Given the description of an element on the screen output the (x, y) to click on. 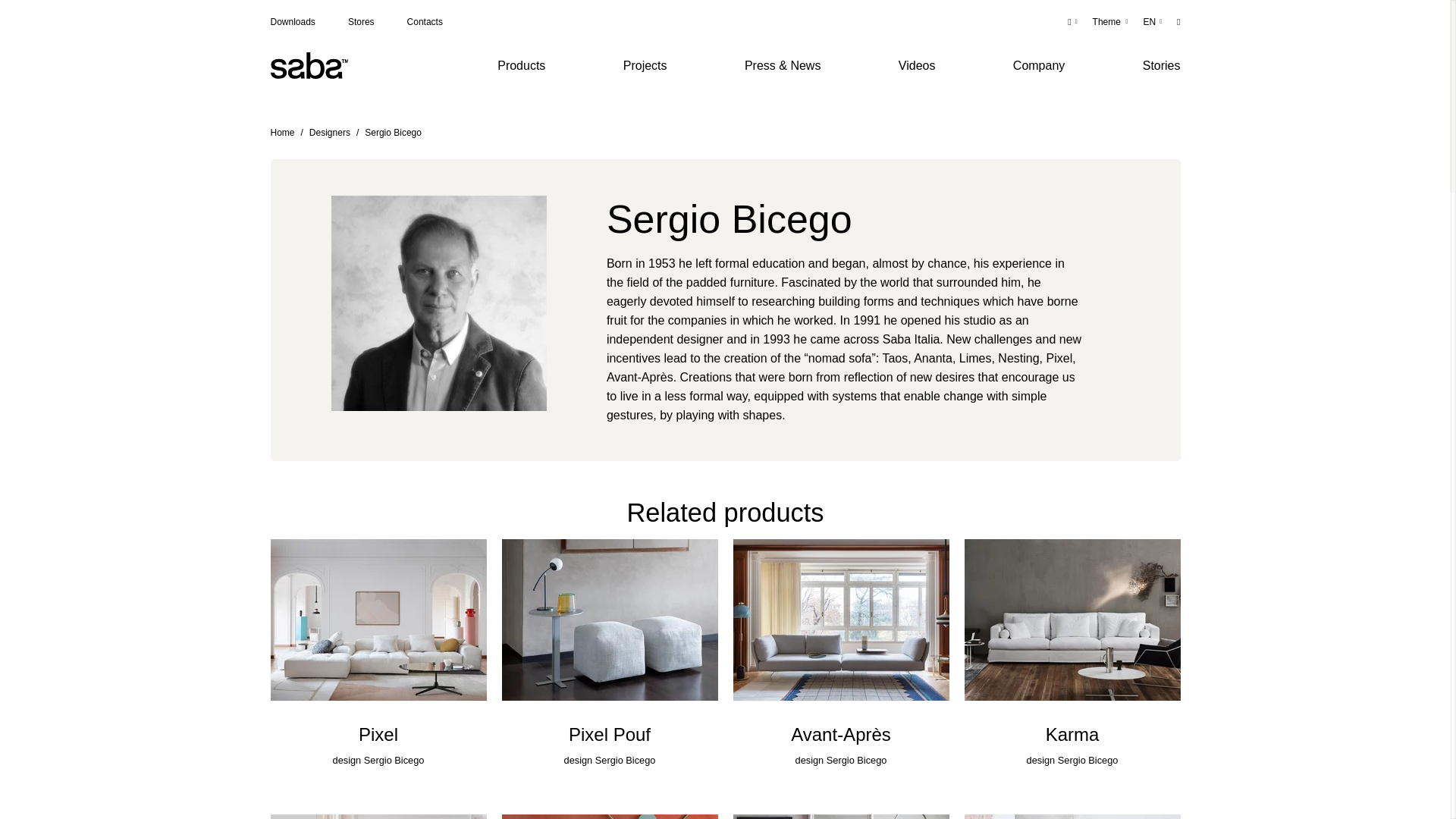
Videos (917, 65)
Stores (360, 22)
Downloads (291, 22)
Contacts (424, 22)
